Given the description of an element on the screen output the (x, y) to click on. 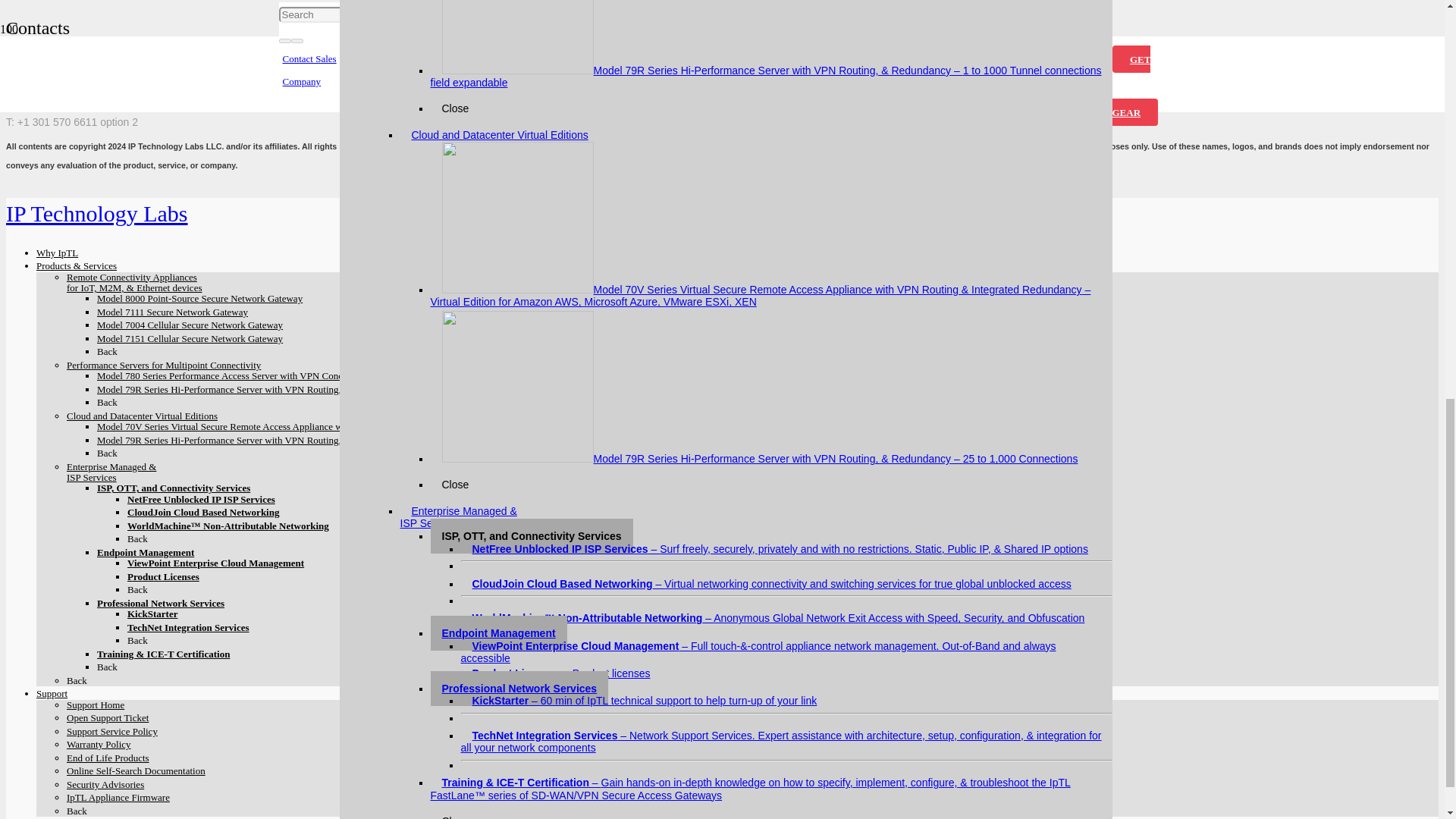
Support Service Policy (434, 108)
Warranty Policy (418, 124)
Online Self-Search Documentation (462, 155)
Support Home (415, 77)
Available Product License Options (163, 576)
End of Life Products (428, 140)
Security Advisories (425, 171)
IpTL Appliance Firmware (439, 186)
Open Support Ticket (429, 93)
Support (358, 64)
